Given the description of an element on the screen output the (x, y) to click on. 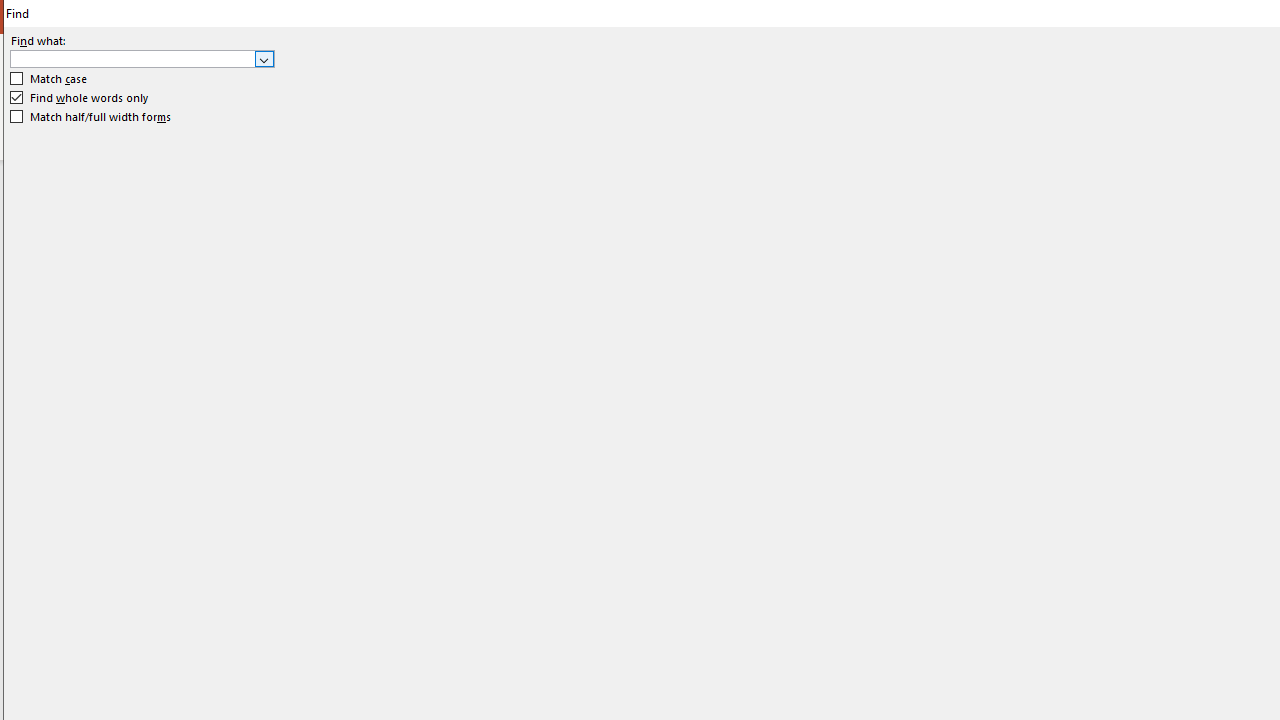
Match case (49, 79)
Find what (132, 58)
Find whole words only (79, 97)
Find what (142, 58)
Match half/full width forms (91, 116)
